Given the description of an element on the screen output the (x, y) to click on. 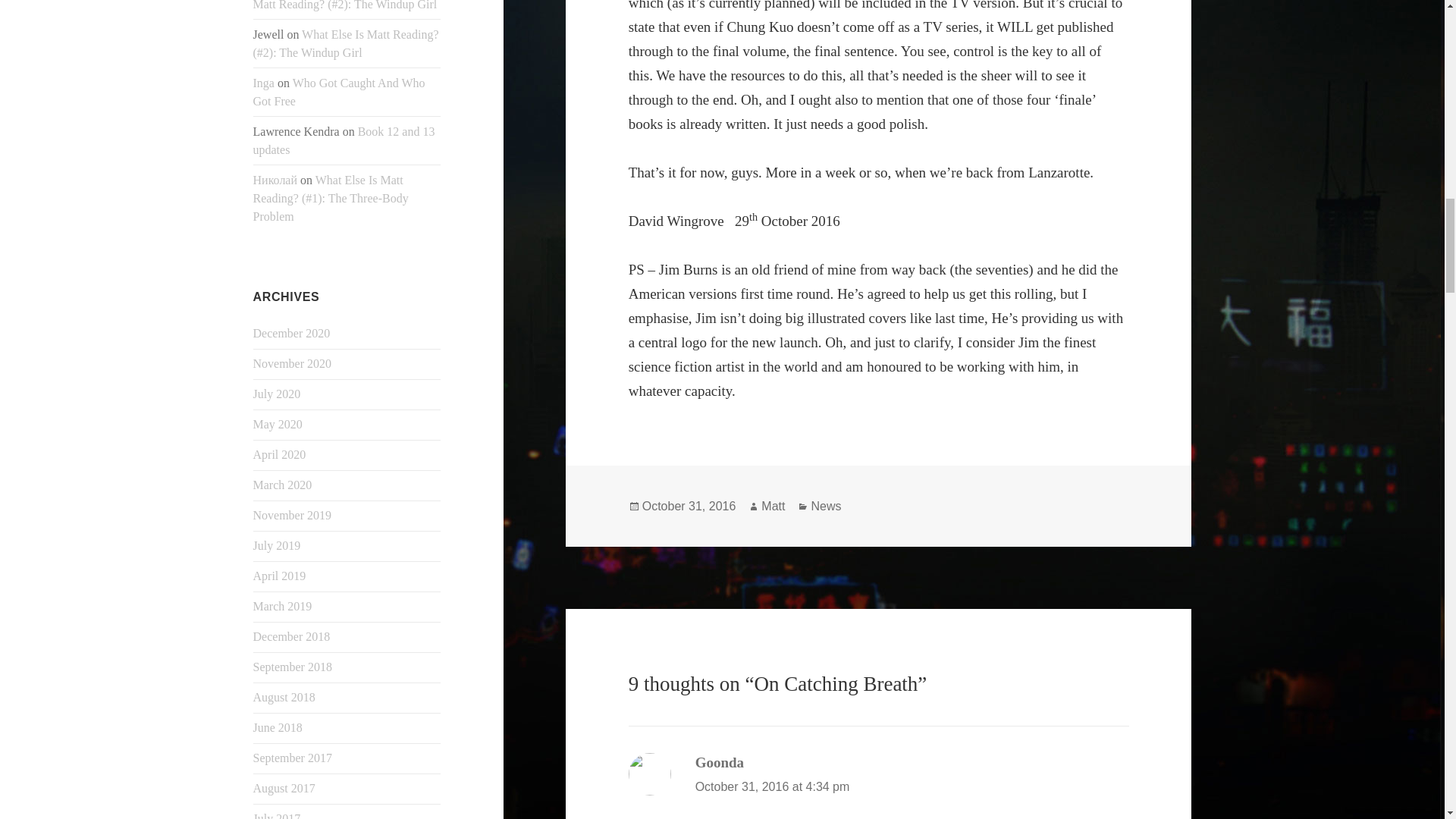
Inga (264, 82)
May 2020 (277, 423)
Book 12 and 13 updates (344, 140)
Who Got Caught And Who Got Free (339, 91)
April 2020 (279, 454)
November 2020 (292, 363)
December 2020 (291, 332)
July 2020 (277, 393)
